Given the description of an element on the screen output the (x, y) to click on. 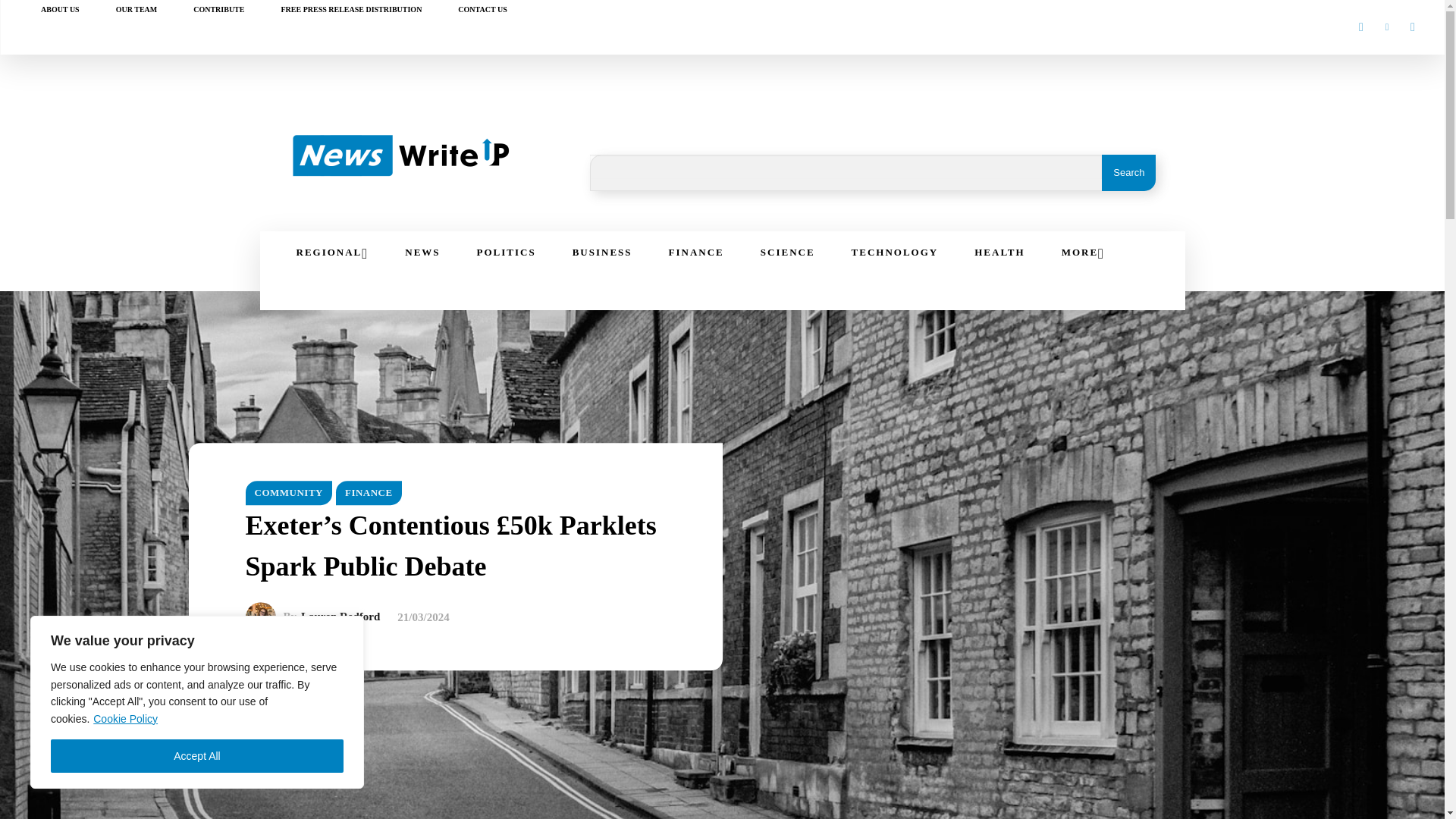
Twitter (1412, 27)
Facebook (1361, 27)
Cookie Policy (125, 718)
Lauren Redford (264, 616)
Accept All (196, 756)
Linkedin (1386, 27)
